Given the description of an element on the screen output the (x, y) to click on. 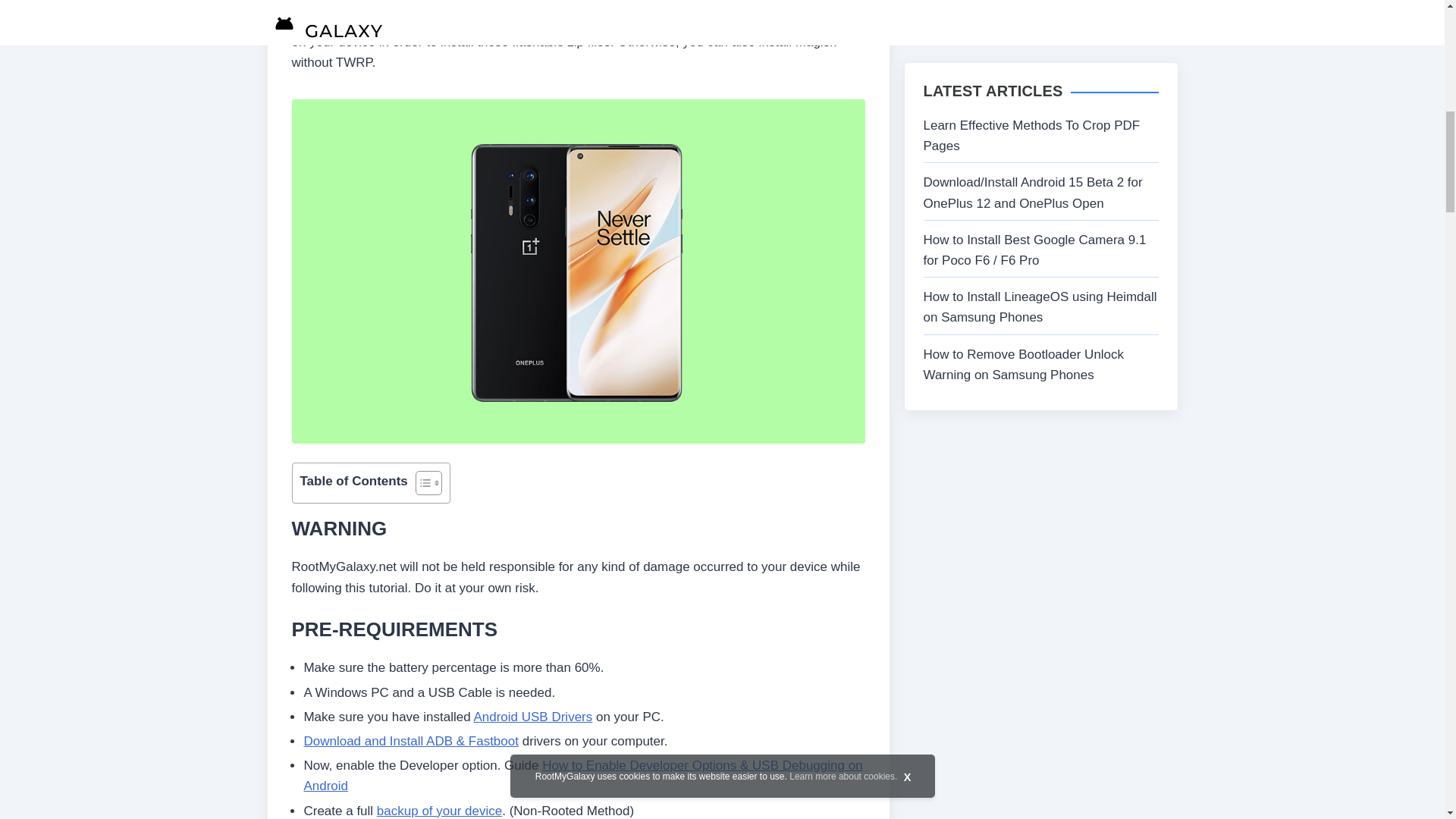
backup of your device (439, 810)
Android USB Drivers (532, 716)
